Given the description of an element on the screen output the (x, y) to click on. 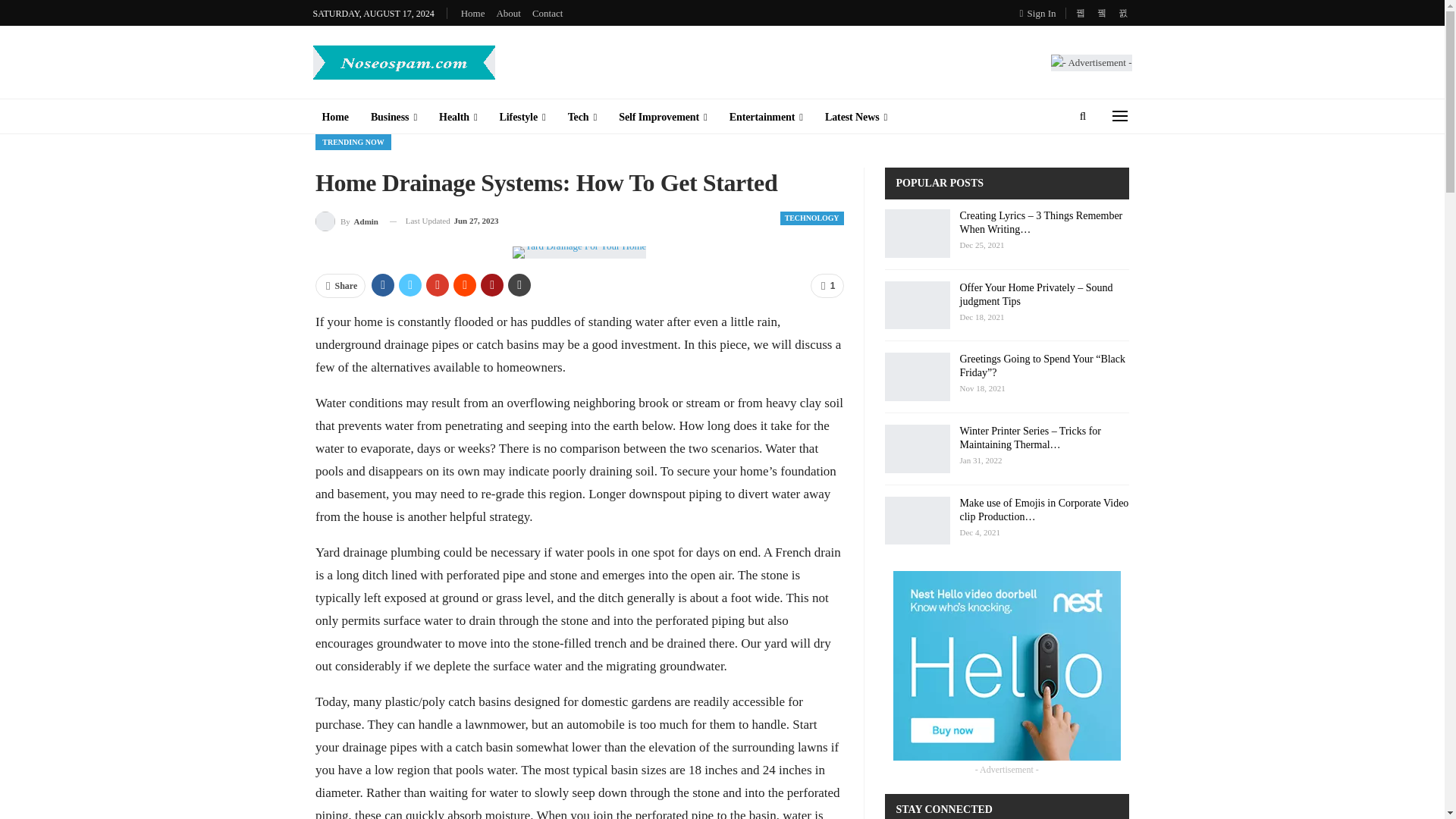
Tech (583, 117)
Home (472, 12)
Health (457, 117)
Contact (547, 12)
Business (393, 117)
About (508, 12)
Sign In (1041, 13)
Home (334, 117)
Browse Author Articles (346, 220)
Lifestyle (522, 117)
